Given the description of an element on the screen output the (x, y) to click on. 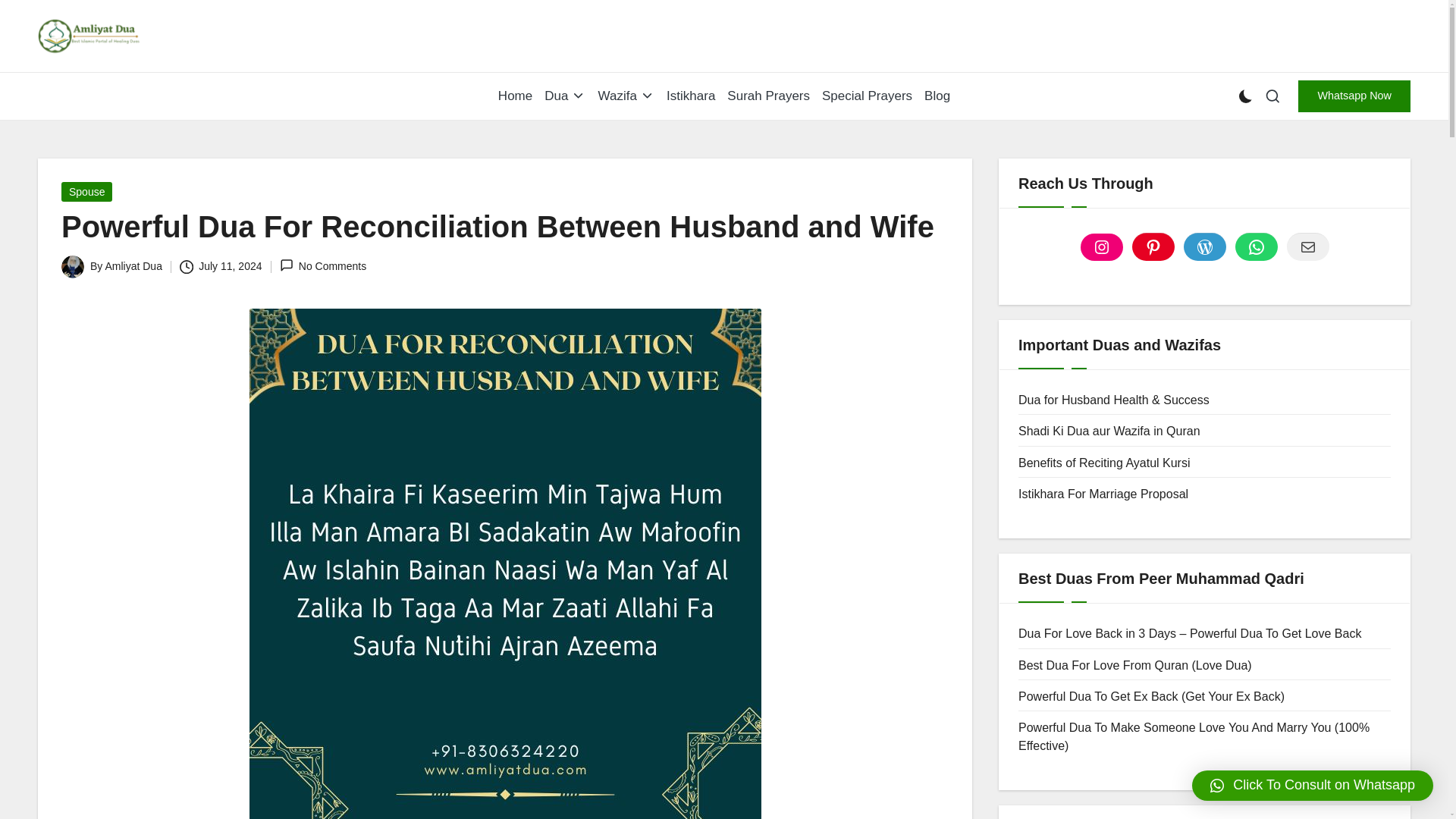
View all posts by Amliyat Dua (132, 265)
Wazifa (626, 96)
Surah Prayers (767, 96)
Dua (564, 96)
Istikhara (690, 96)
Special Prayers (867, 96)
